Given the description of an element on the screen output the (x, y) to click on. 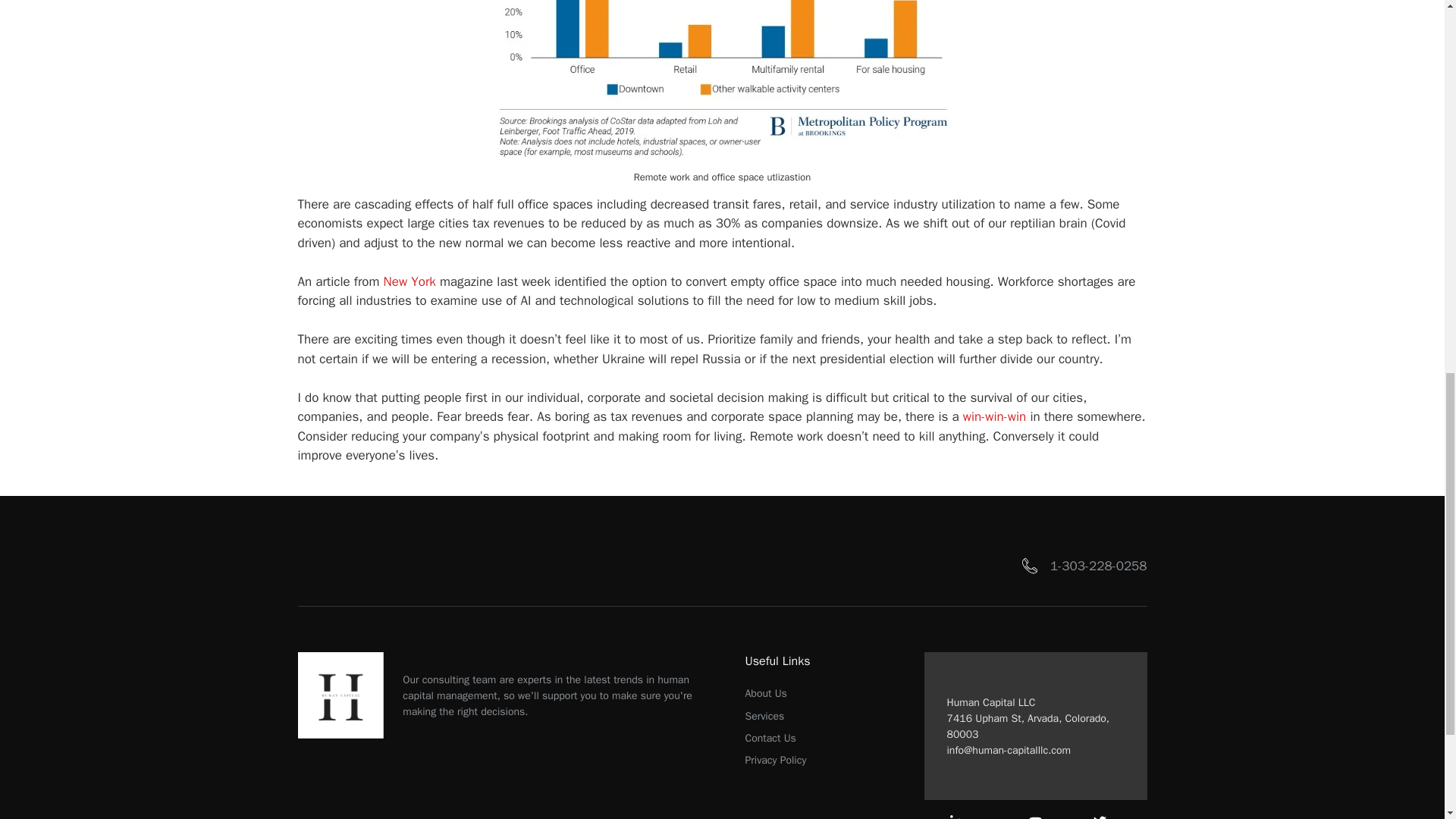
1-303-228-0258 (1098, 565)
New York (409, 281)
Contact Us (769, 738)
About Us (765, 693)
Services (764, 715)
win-win-win (994, 416)
Privacy Policy (775, 760)
